Given the description of an element on the screen output the (x, y) to click on. 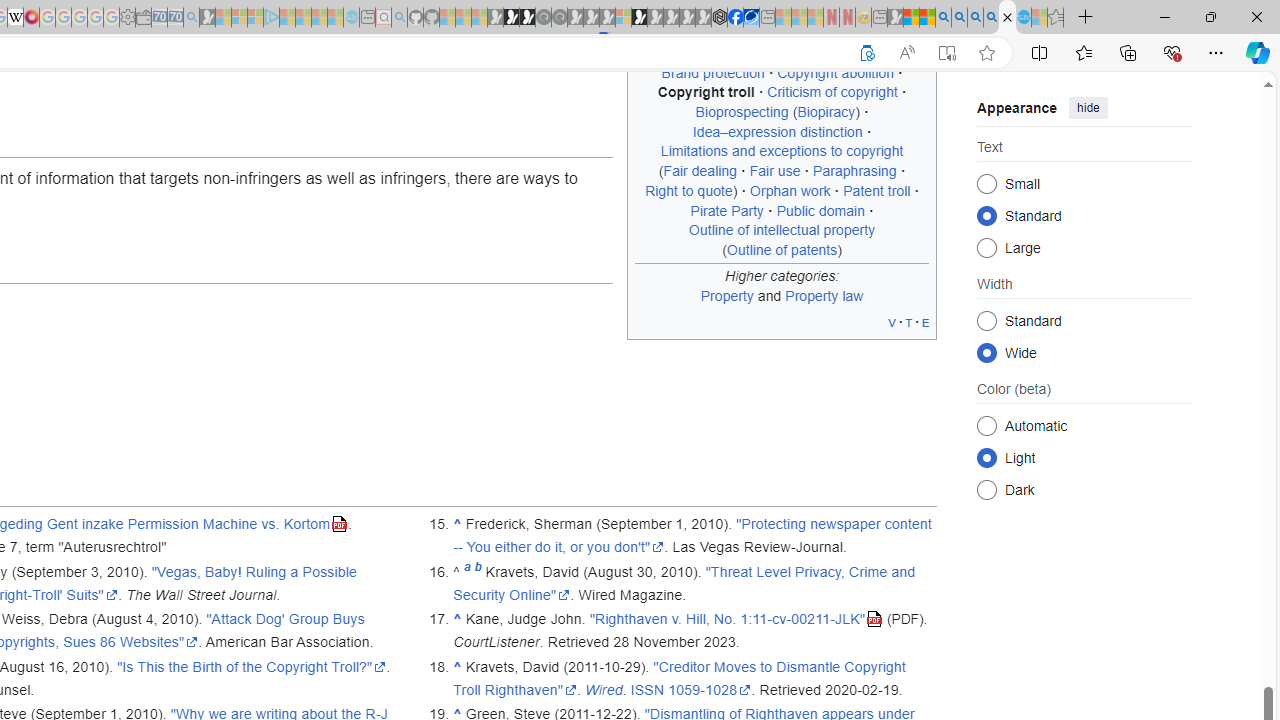
Nordace - Cooler Bags (719, 17)
MSN - Sleeping (895, 17)
Standard (986, 320)
e (925, 322)
Settings - Sleeping (127, 17)
hide (1088, 107)
Criticism of copyright (832, 92)
Favorites - Sleeping (1055, 17)
Orphan work (790, 190)
"Righthaven v. Hill, No. 1:11-cv-00211-JLK" (736, 619)
